Given the description of an element on the screen output the (x, y) to click on. 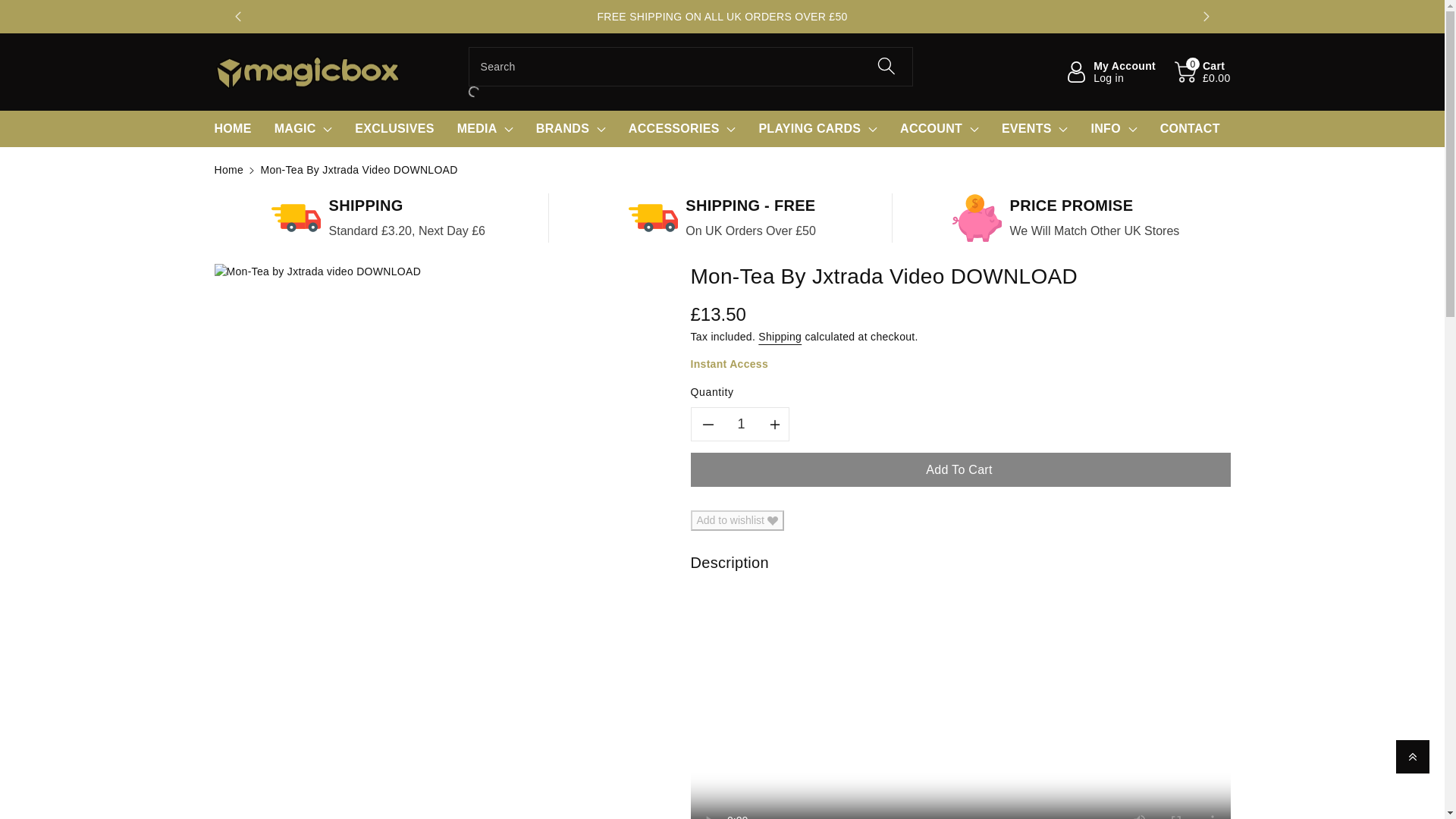
Skip To Content (8, 8)
Home (228, 169)
1 (741, 424)
